Given the description of an element on the screen output the (x, y) to click on. 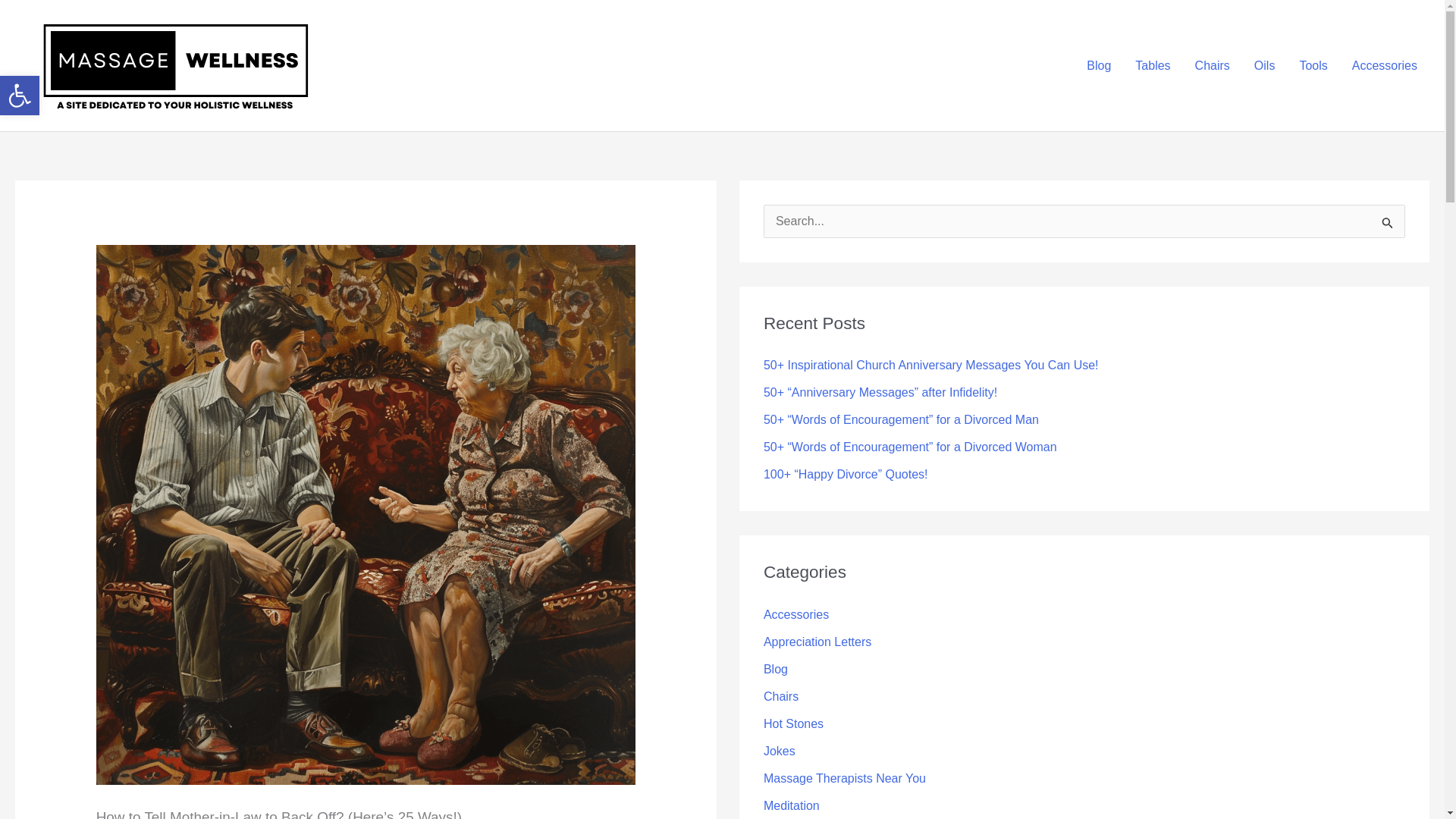
Accessibility Tools (19, 95)
Chairs (1211, 65)
Accessibility Tools (19, 95)
Blog (1098, 65)
Accessories (1384, 65)
Tools (1313, 65)
Tables (1152, 65)
